Given the description of an element on the screen output the (x, y) to click on. 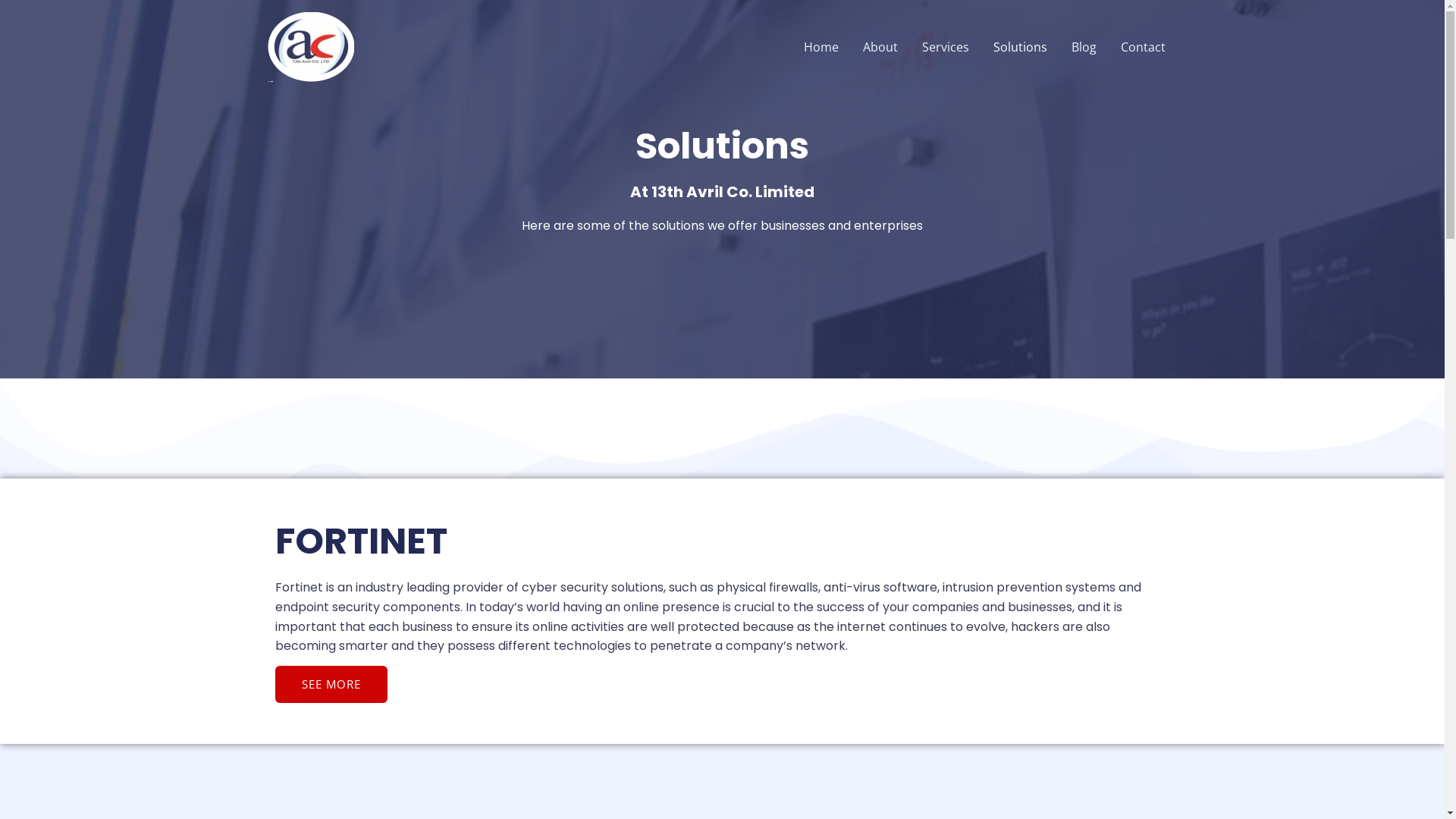
Services Element type: text (945, 46)
Solutions Element type: text (1020, 46)
Home Element type: text (820, 46)
Contact Element type: text (1142, 46)
About Element type: text (880, 46)
SEE MORE Element type: text (330, 683)
Blog Element type: text (1082, 46)
